Given the description of an element on the screen output the (x, y) to click on. 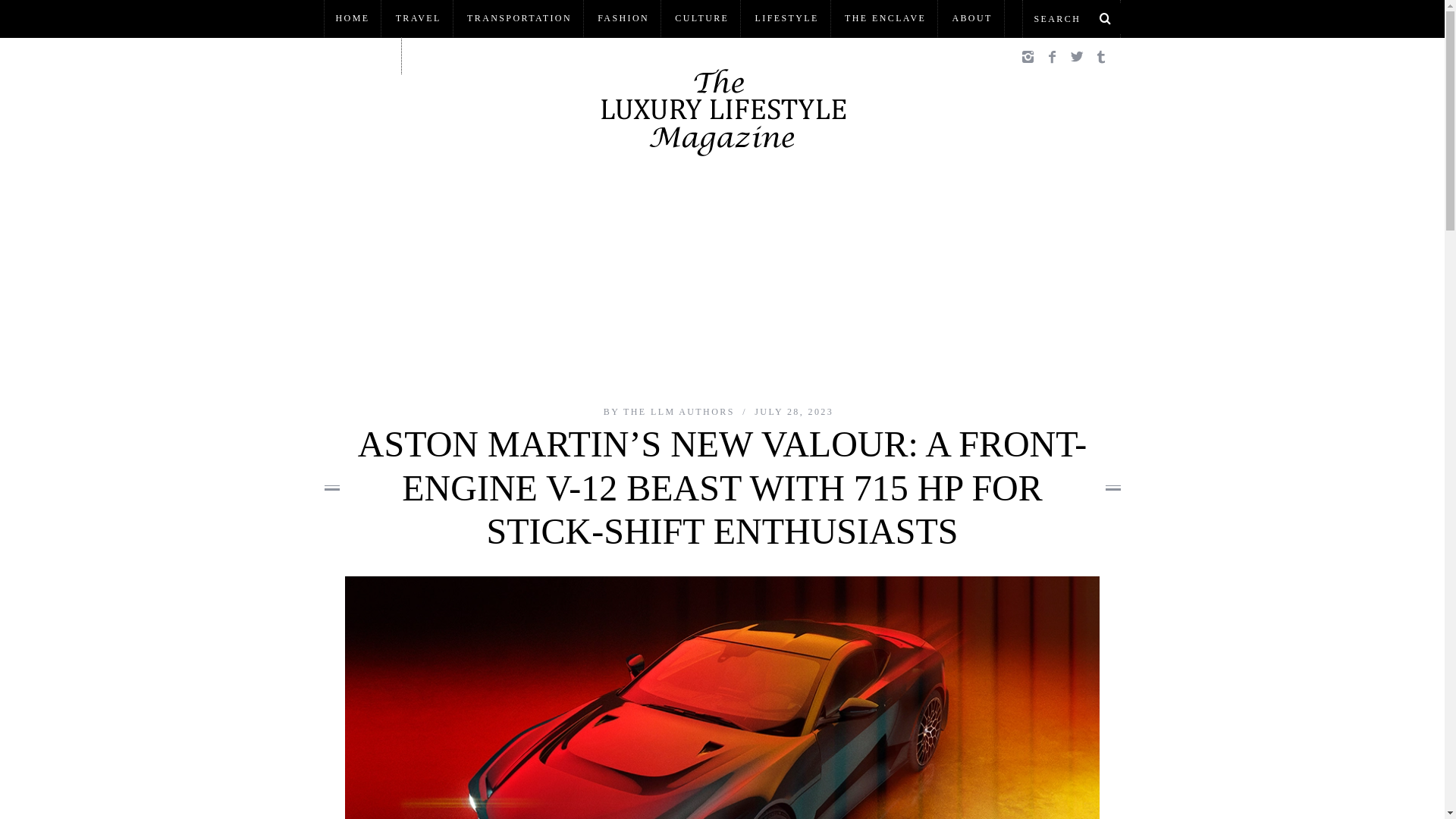
Search (1071, 18)
